Given the description of an element on the screen output the (x, y) to click on. 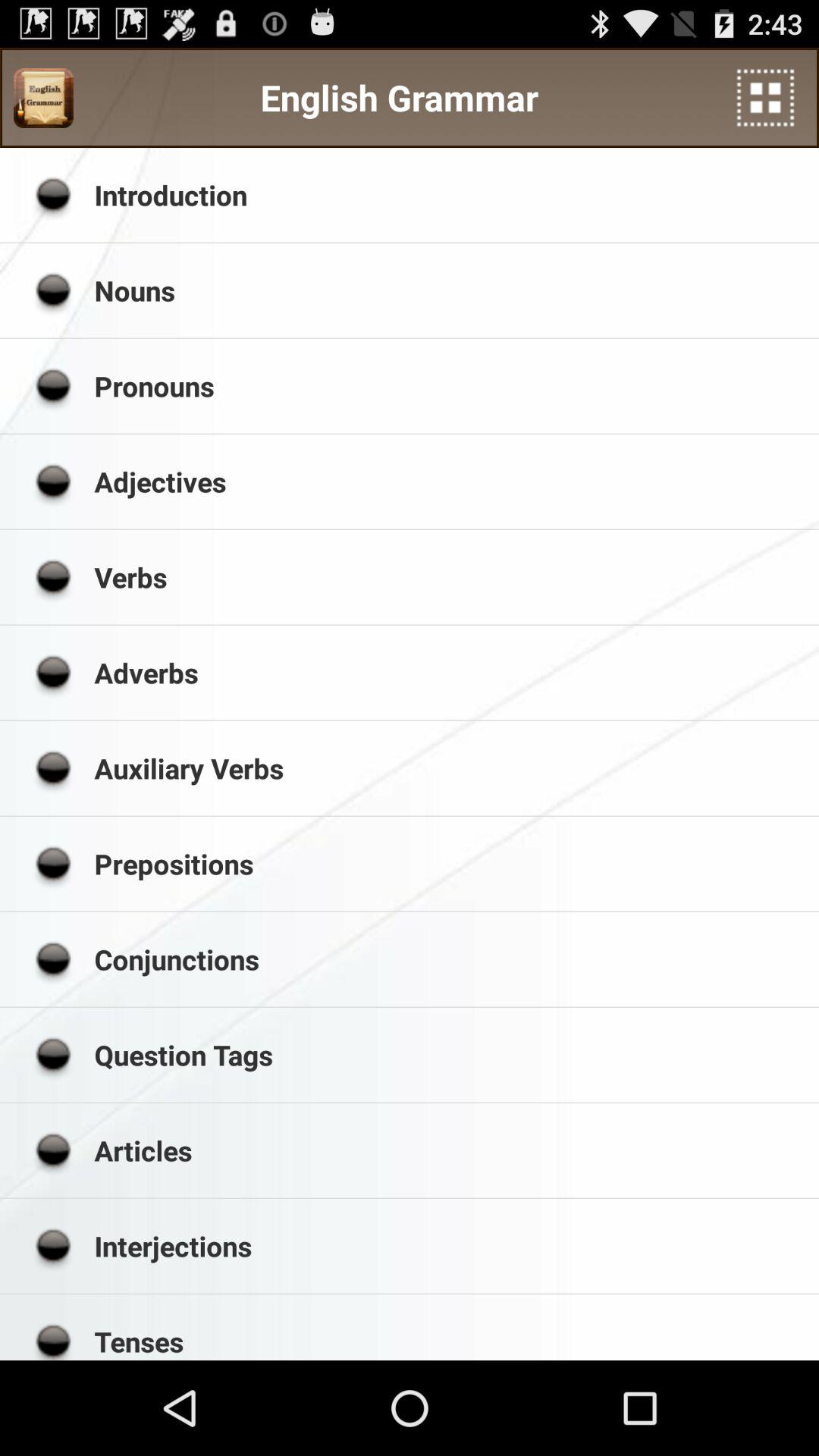
open menu (765, 97)
